Given the description of an element on the screen output the (x, y) to click on. 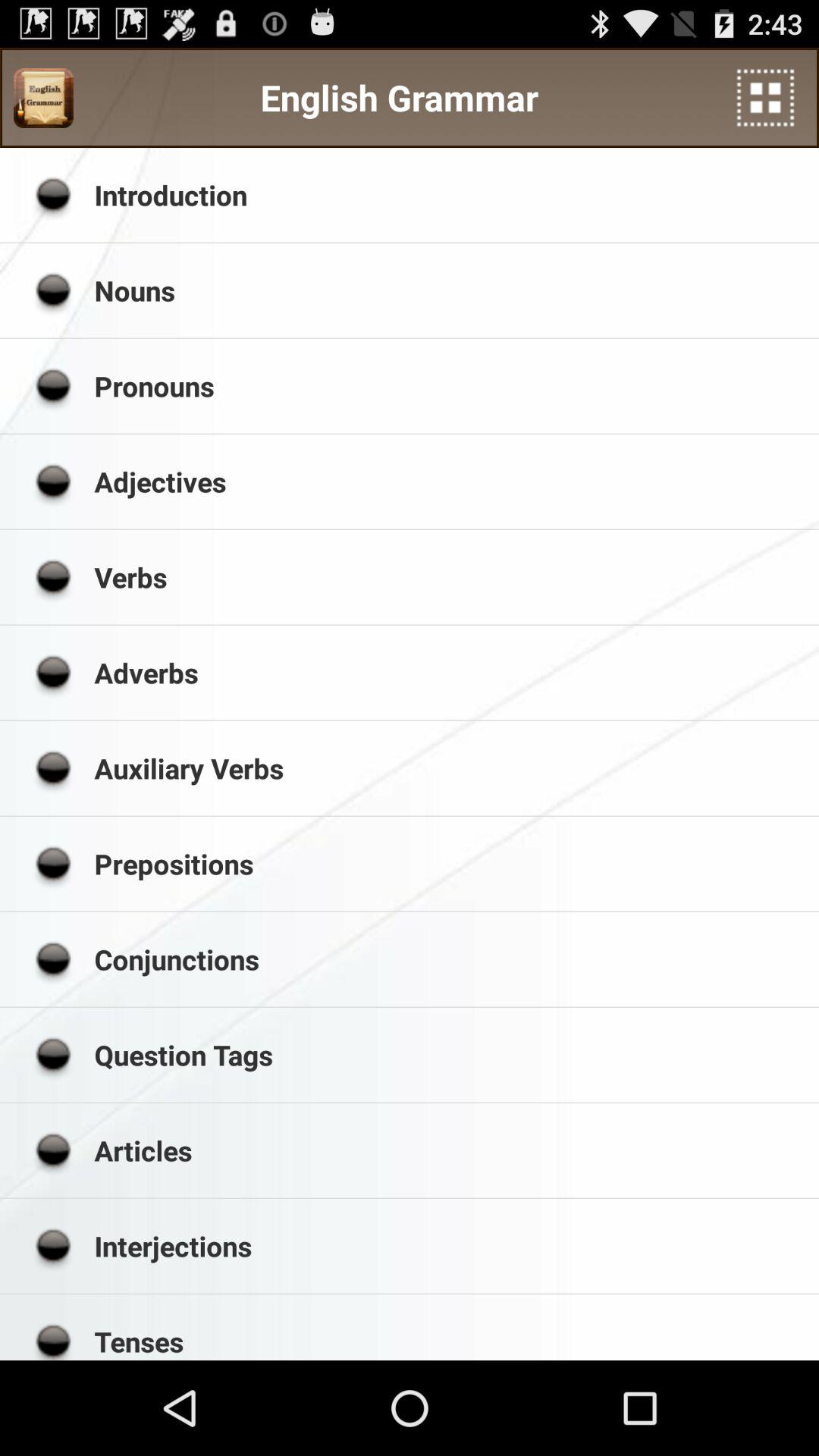
open menu (765, 97)
